Given the description of an element on the screen output the (x, y) to click on. 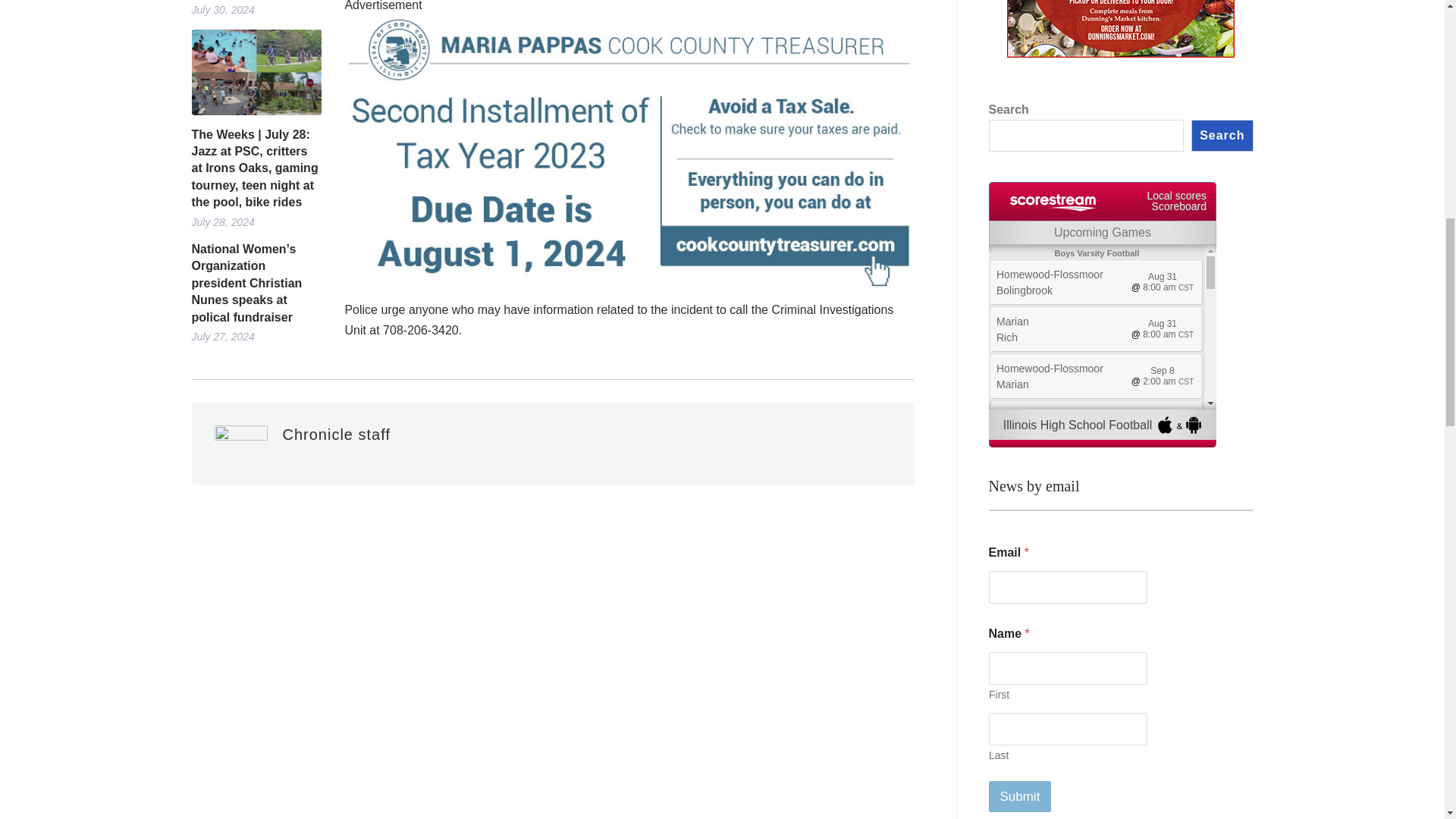
Posts by Chronicle staff (336, 434)
